Given the description of an element on the screen output the (x, y) to click on. 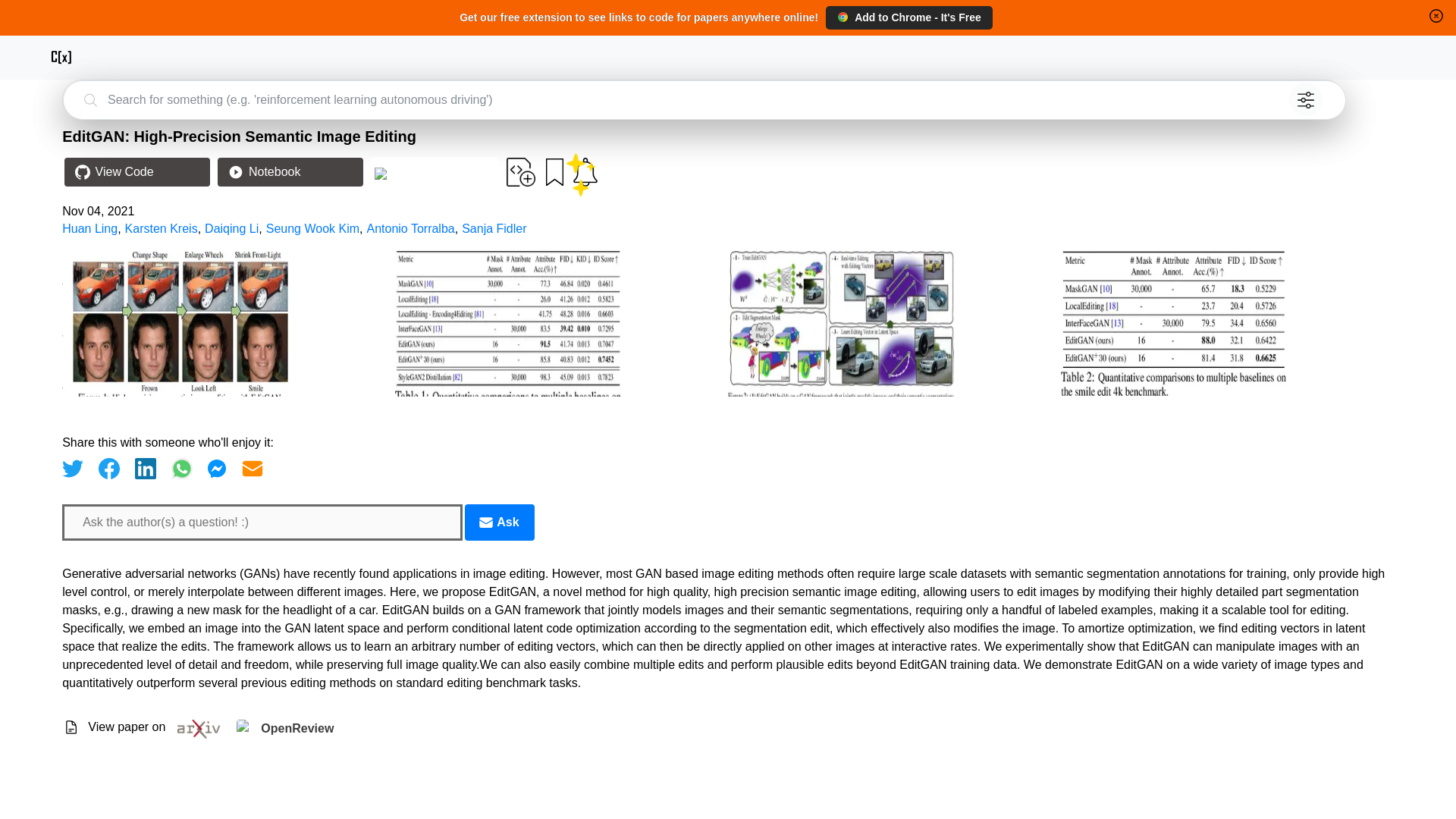
View code for similar papers (433, 173)
Ask any Qs from the author (499, 522)
Seung Wook Kim (312, 228)
Share via Email (252, 468)
Daiqing Li (232, 228)
OpenReview (284, 729)
Karsten Kreis (161, 228)
Sanja Fidler (493, 228)
Antonio Torralba (410, 228)
Contribute your code for this paper to the community (520, 172)
Huan Ling (89, 228)
Add to Chrome - It's Free (908, 17)
Email Icon Ask (499, 522)
View Code (136, 172)
Notebook (289, 172)
